Given the description of an element on the screen output the (x, y) to click on. 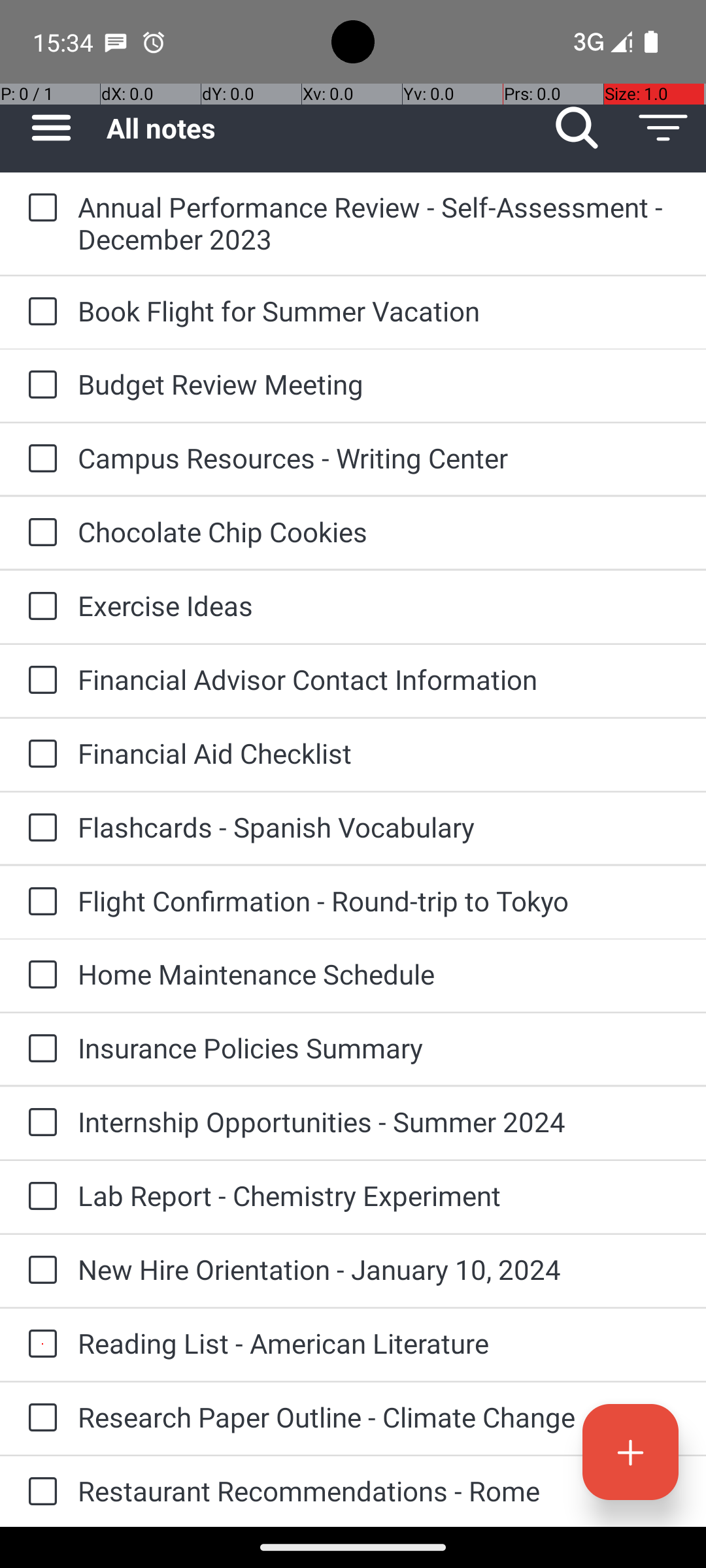
to-do: Book Flight for Summer Vacation Element type: android.widget.CheckBox (38, 312)
Book Flight for Summer Vacation Element type: android.widget.TextView (378, 310)
to-do: Budget Review Meeting Element type: android.widget.CheckBox (38, 385)
Budget Review Meeting Element type: android.widget.TextView (378, 383)
to-do: Campus Resources - Writing Center Element type: android.widget.CheckBox (38, 459)
Campus Resources - Writing Center Element type: android.widget.TextView (378, 457)
to-do: Chocolate Chip Cookies Element type: android.widget.CheckBox (38, 533)
Chocolate Chip Cookies Element type: android.widget.TextView (378, 531)
to-do: Exercise Ideas Element type: android.widget.CheckBox (38, 606)
Exercise Ideas Element type: android.widget.TextView (378, 604)
to-do: Financial Aid Checklist Element type: android.widget.CheckBox (38, 754)
to-do: Flashcards - Spanish Vocabulary Element type: android.widget.CheckBox (38, 828)
Flashcards - Spanish Vocabulary Element type: android.widget.TextView (378, 826)
to-do: Flight Confirmation - Round-trip to Tokyo Element type: android.widget.CheckBox (38, 902)
to-do: Home Maintenance Schedule Element type: android.widget.CheckBox (38, 975)
Home Maintenance Schedule Element type: android.widget.TextView (378, 973)
to-do: Insurance Policies Summary Element type: android.widget.CheckBox (38, 1049)
to-do: Internship Opportunities - Summer 2024 Element type: android.widget.CheckBox (38, 1123)
Internship Opportunities - Summer 2024 Element type: android.widget.TextView (378, 1121)
to-do: Lab Report - Chemistry Experiment Element type: android.widget.CheckBox (38, 1196)
Lab Report - Chemistry Experiment Element type: android.widget.TextView (378, 1194)
to-do: New Hire Orientation - January 10, 2024 Element type: android.widget.CheckBox (38, 1270)
New Hire Orientation - January 10, 2024 Element type: android.widget.TextView (378, 1268)
to-do: Reading List - American Literature Element type: android.widget.CheckBox (38, 1344)
Reading List - American Literature Element type: android.widget.TextView (378, 1342)
to-do: Research Paper Outline - Climate Change Element type: android.widget.CheckBox (38, 1418)
Research Paper Outline - Climate Change Element type: android.widget.TextView (378, 1416)
